Given the description of an element on the screen output the (x, y) to click on. 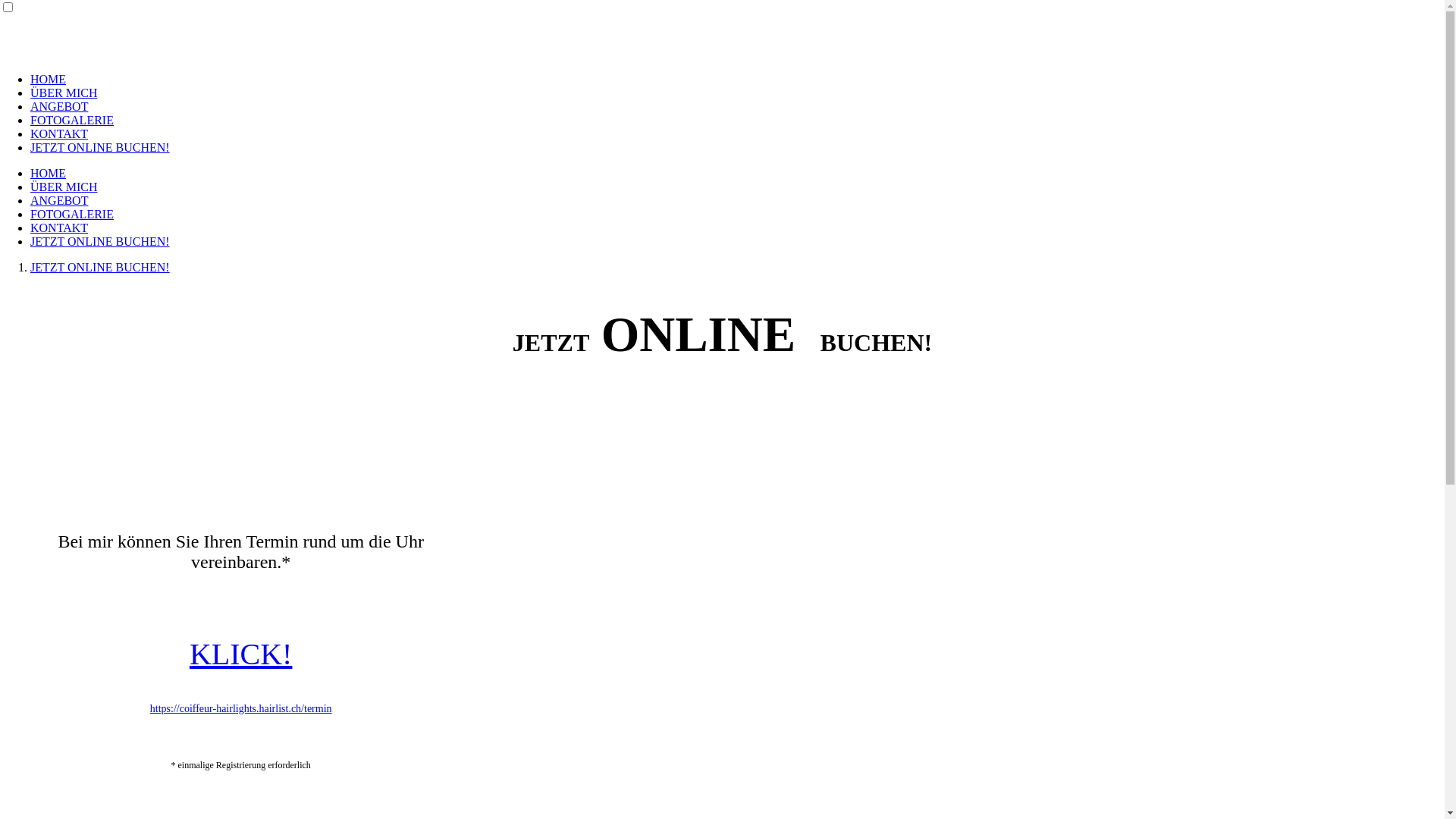
JETZT ONLINE BUCHEN! Element type: text (99, 147)
JETZT ONLINE BUCHEN! Element type: text (99, 241)
HOME Element type: text (47, 172)
KONTAKT Element type: text (58, 227)
JETZT ONLINE BUCHEN! Element type: text (99, 266)
KONTAKT Element type: text (58, 133)
KLICK! Element type: text (240, 654)
HOME Element type: text (47, 78)
FOTOGALERIE Element type: text (71, 119)
ANGEBOT Element type: text (58, 106)
https://coiffeur-hairlights.hairlist.ch/termin Element type: text (241, 708)
FOTOGALERIE Element type: text (71, 213)
ANGEBOT Element type: text (58, 200)
